Given the description of an element on the screen output the (x, y) to click on. 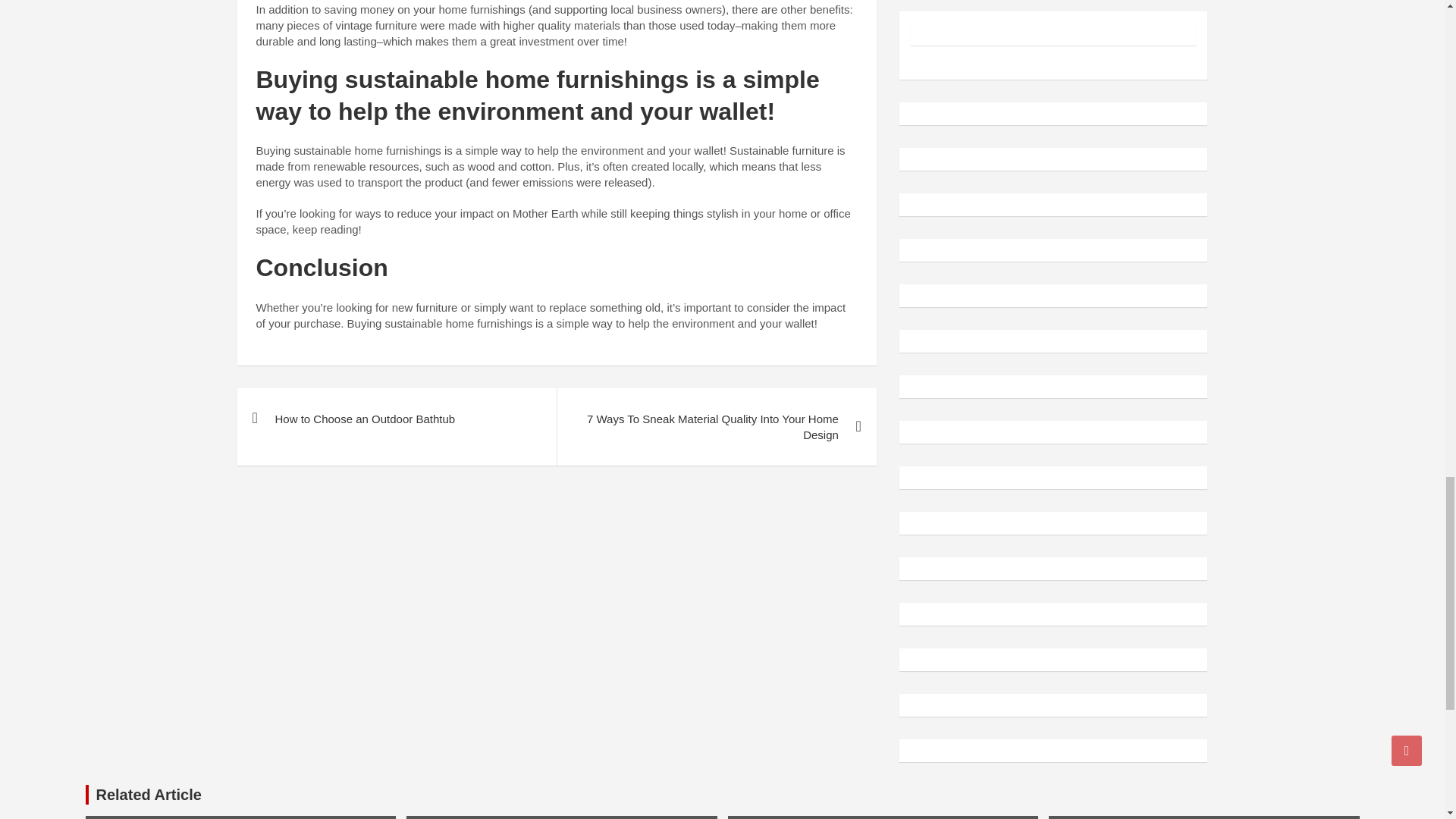
7 Ways To Sneak Material Quality Into Your Home Design (716, 427)
How to Choose an Outdoor Bathtub (395, 418)
